Given the description of an element on the screen output the (x, y) to click on. 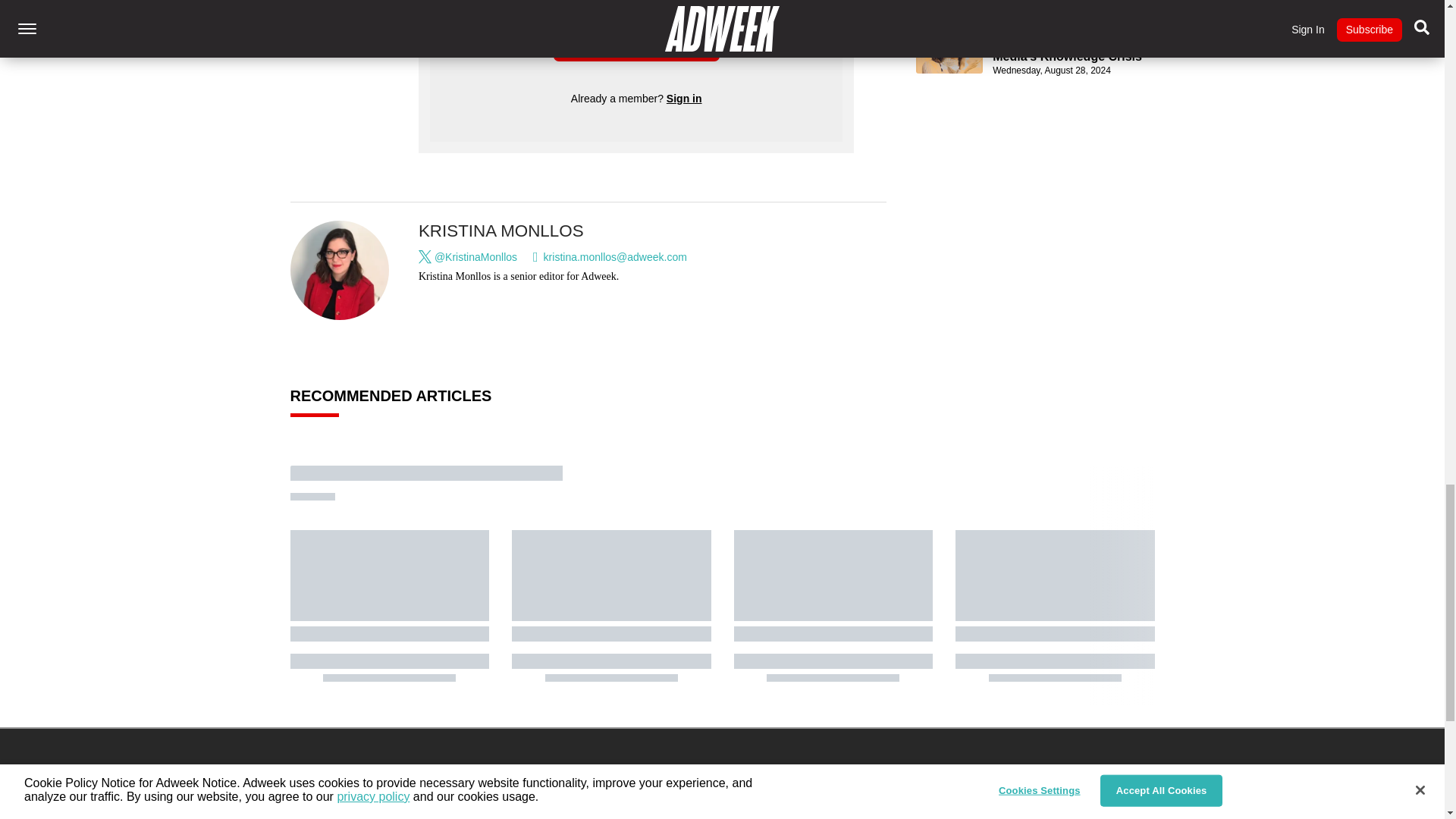
Sign in (683, 98)
View Subscription Options (636, 44)
headshotkristina (339, 270)
Qatalog-Webinar-082824-Header (948, 56)
